Given the description of an element on the screen output the (x, y) to click on. 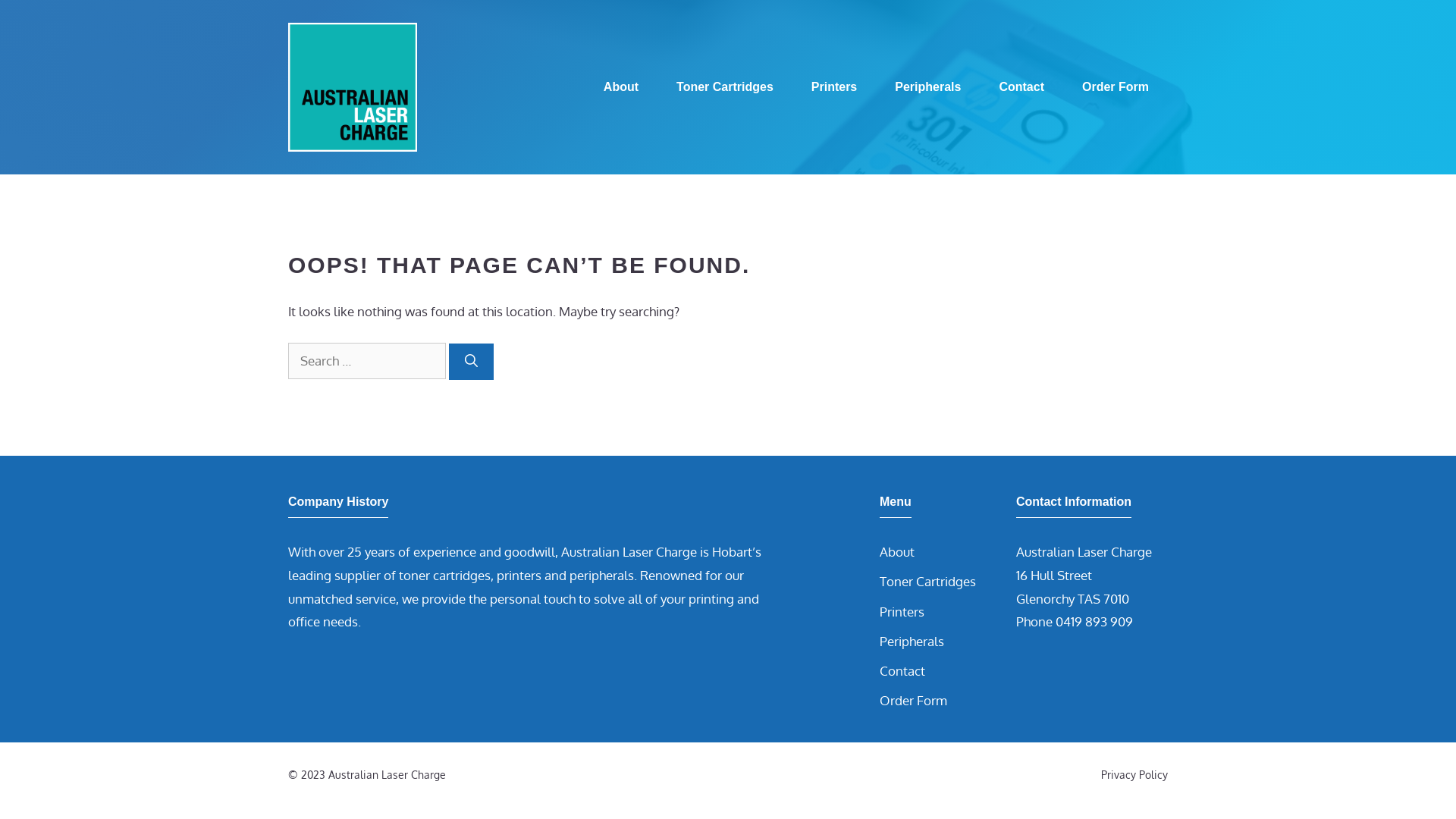
Order Form Element type: text (913, 700)
Printers Element type: text (901, 611)
Toner Cartridges Element type: text (724, 86)
Contact Element type: text (902, 670)
Contact Element type: text (1021, 86)
Privacy Policy Element type: text (1134, 774)
About Element type: text (896, 551)
Australian Laser Charge Element type: hover (352, 85)
Peripherals Element type: text (927, 86)
Australian Laser Charge Element type: hover (352, 86)
Printers Element type: text (833, 86)
Order Form Element type: text (1115, 86)
Search for: Element type: hover (366, 360)
About Element type: text (620, 86)
Toner Cartridges Element type: text (927, 581)
Peripherals Element type: text (911, 641)
